Given the description of an element on the screen output the (x, y) to click on. 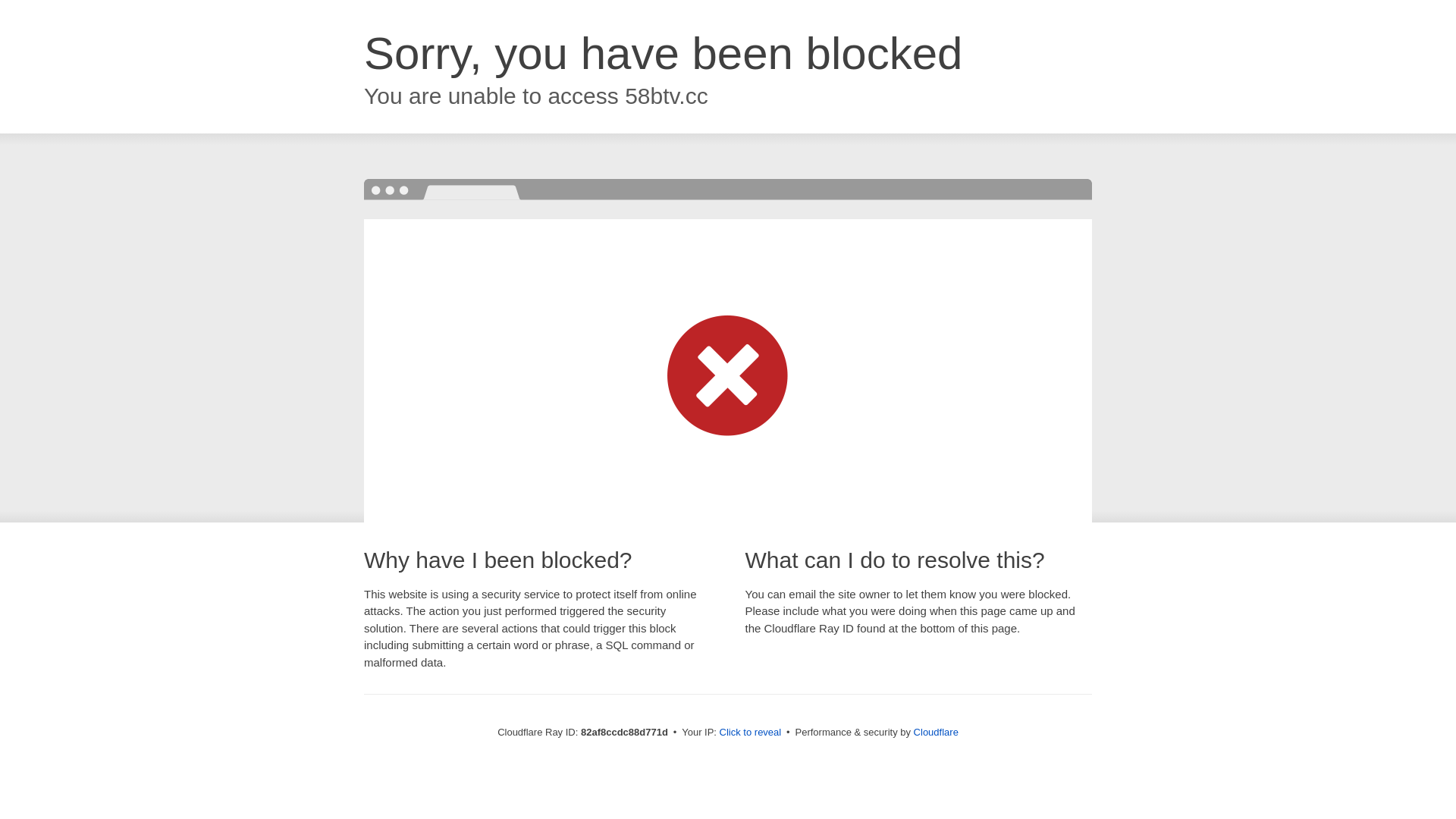
Click to reveal Element type: text (750, 732)
Cloudflare Element type: text (935, 731)
